Given the description of an element on the screen output the (x, y) to click on. 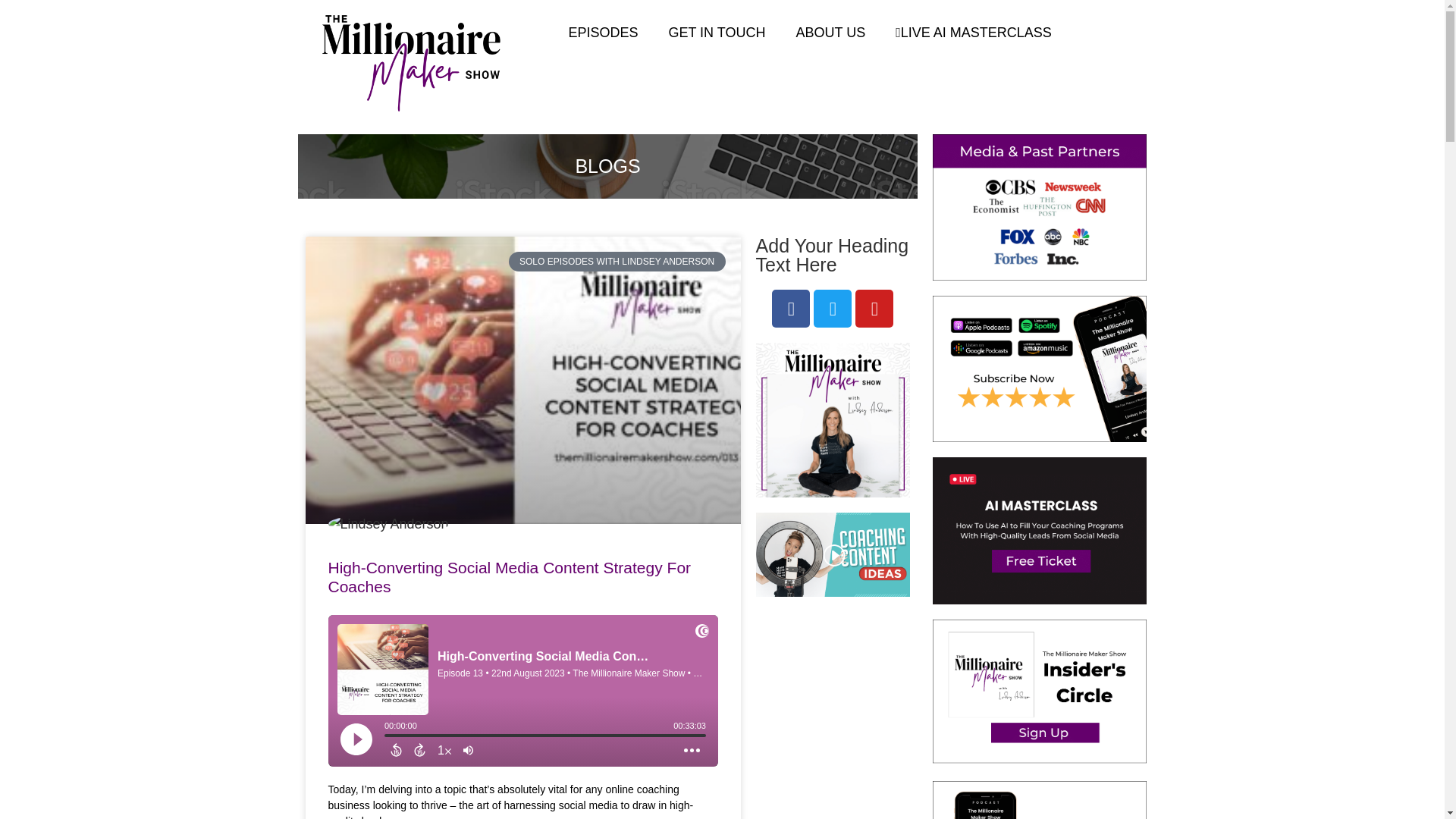
2 BLOG (833, 420)
Screen Shot 2023 06 08 at 8.12.48 AM BLOG (833, 554)
GET IN TOUCH (716, 32)
ABOUT US (830, 32)
EPISODES (602, 32)
High-Converting Social Media Content Strategy For Coaches (508, 576)
